Given the description of an element on the screen output the (x, y) to click on. 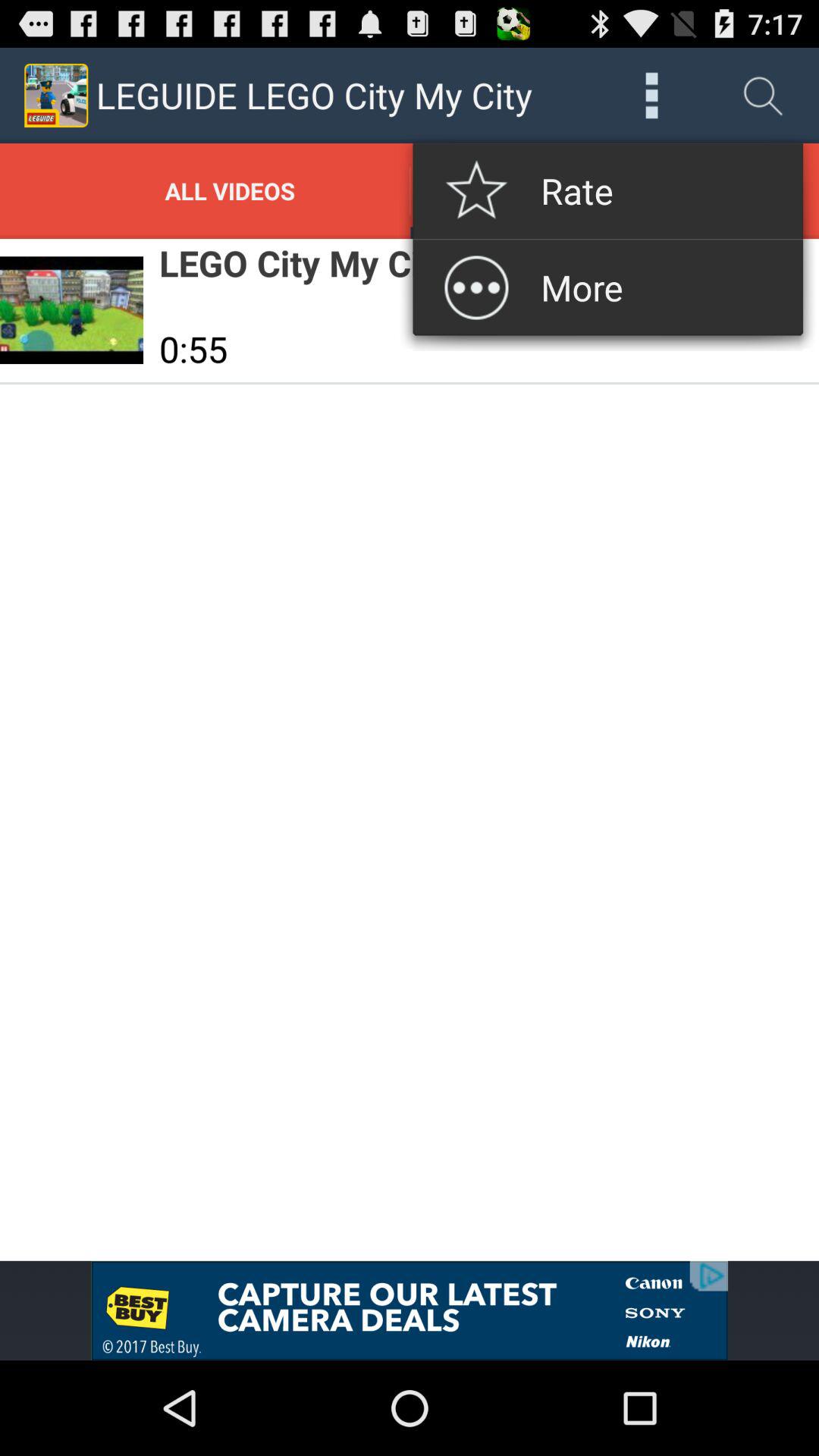
go to top left (55, 95)
click on more icon (651, 95)
